Given the description of an element on the screen output the (x, y) to click on. 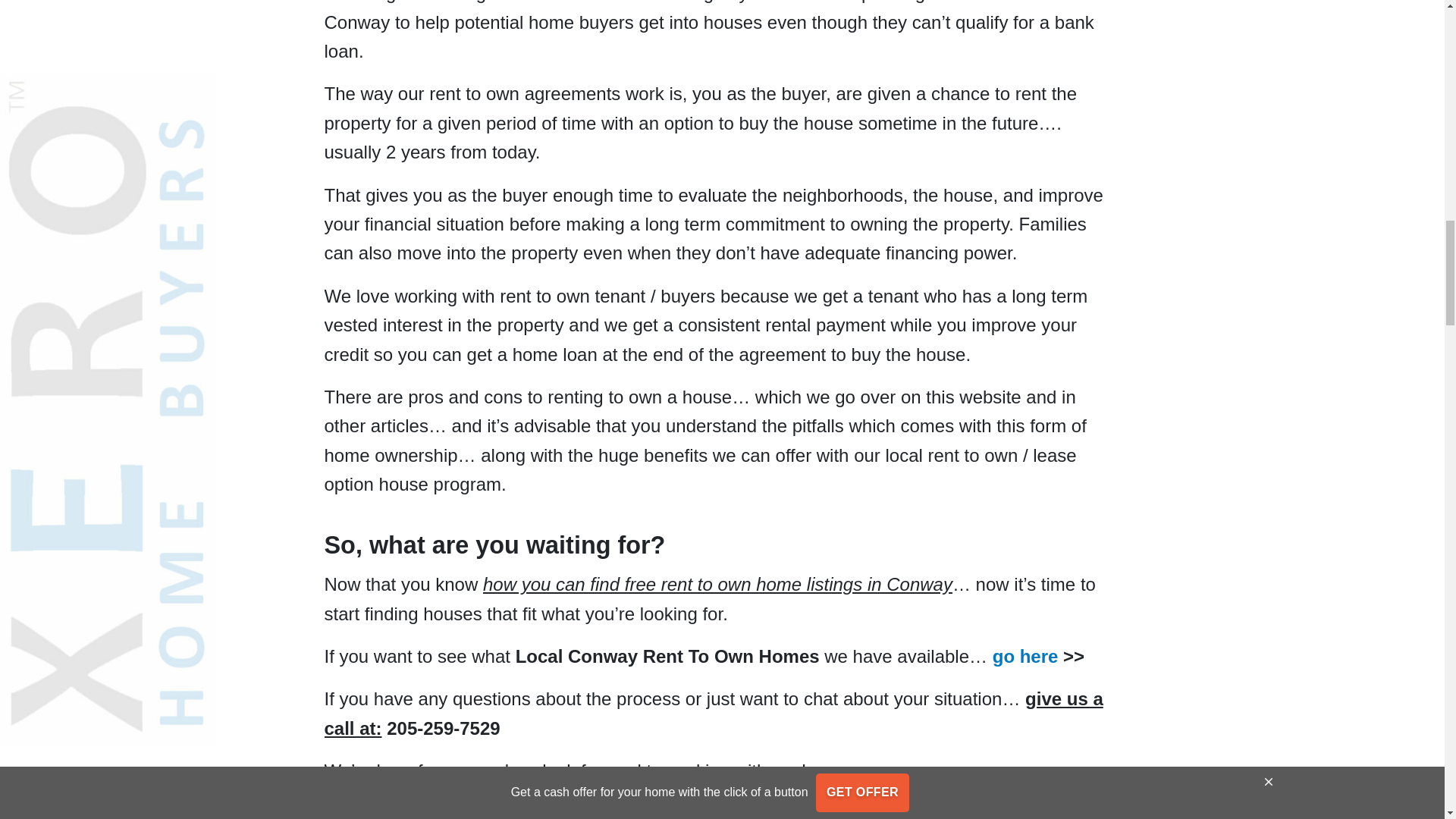
go here (1025, 656)
